Given the description of an element on the screen output the (x, y) to click on. 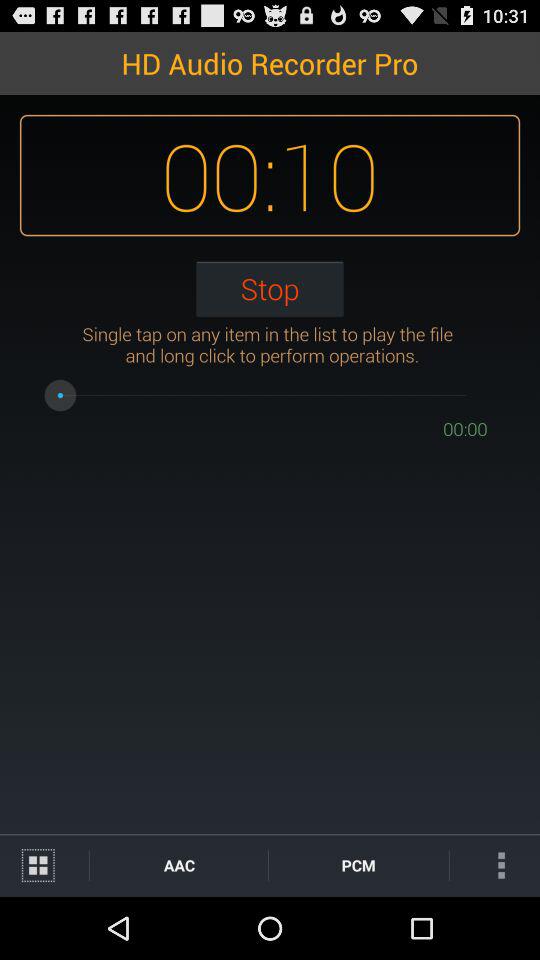
change window size (44, 865)
